Given the description of an element on the screen output the (x, y) to click on. 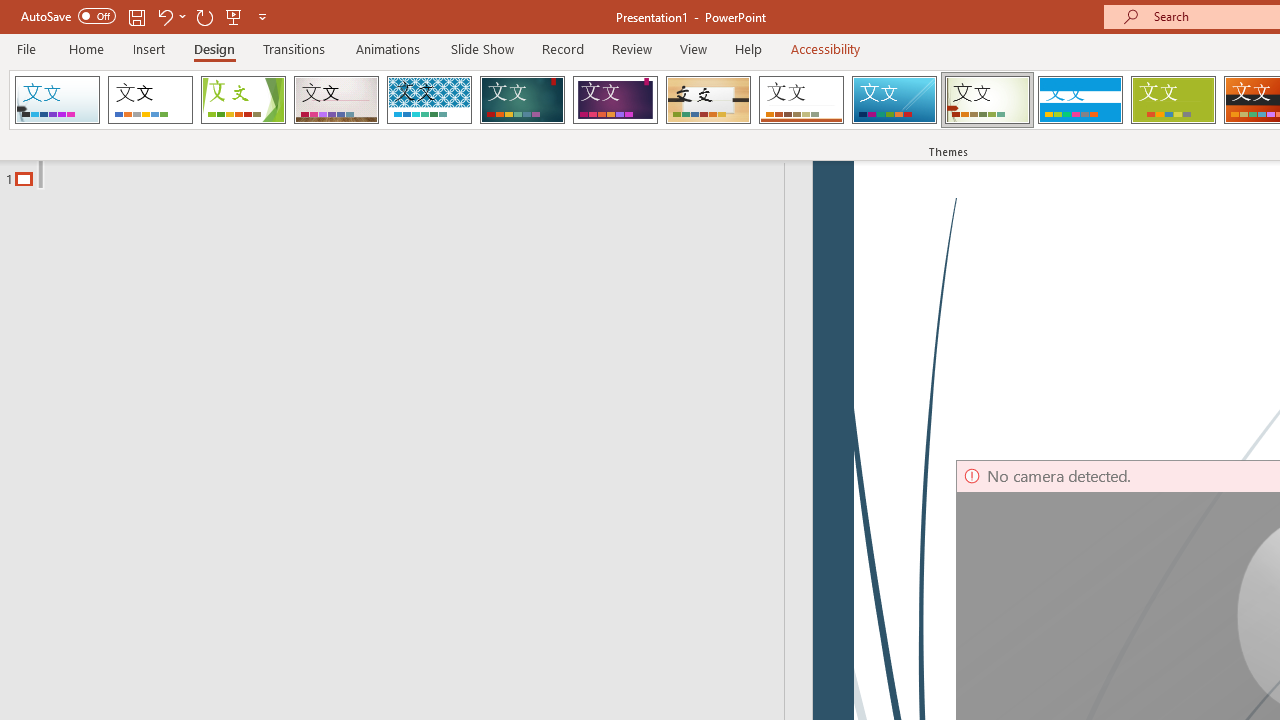
Organic (708, 100)
